Given the description of an element on the screen output the (x, y) to click on. 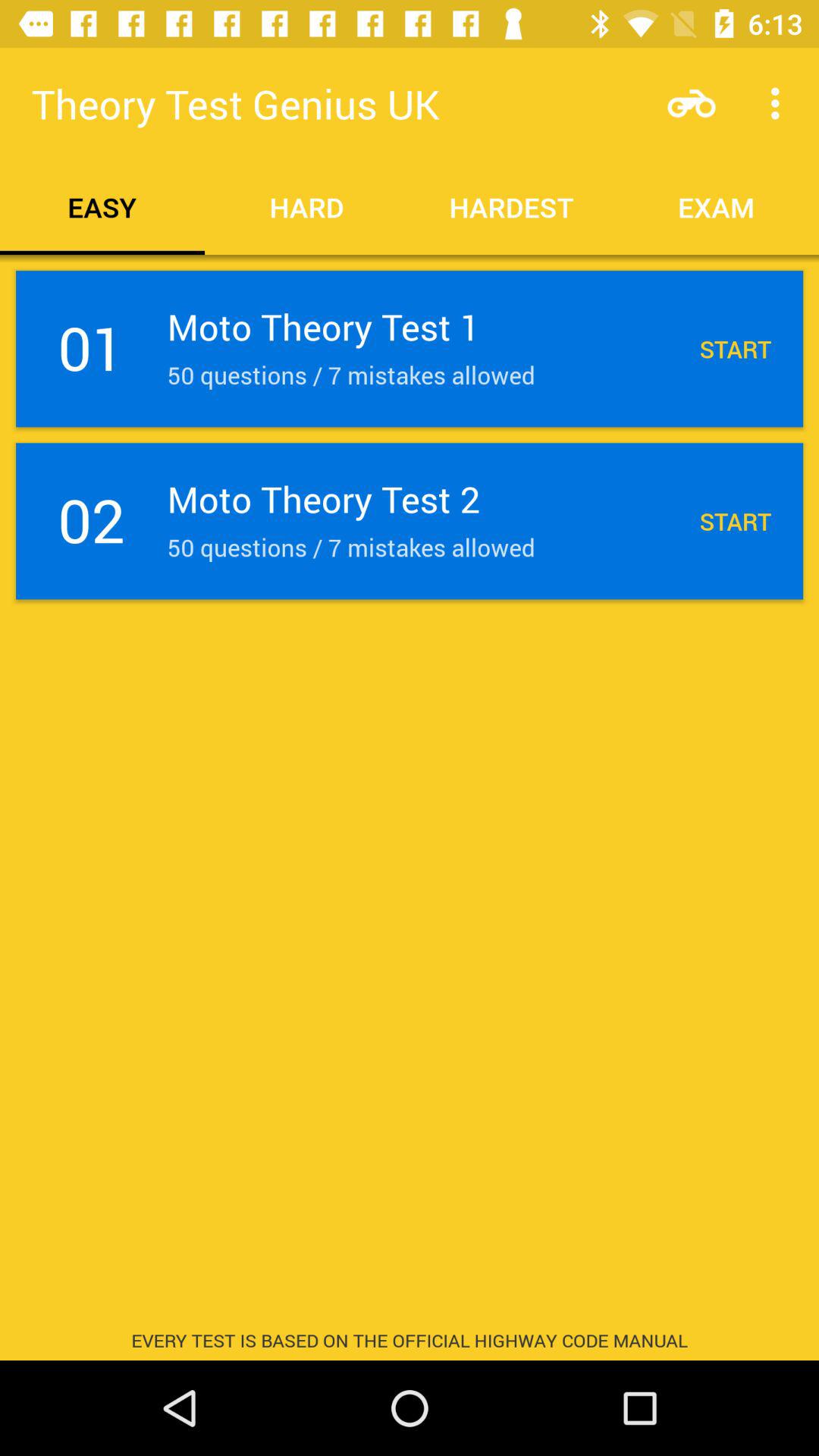
launch the item to the right of the theory test genius icon (691, 103)
